Given the description of an element on the screen output the (x, y) to click on. 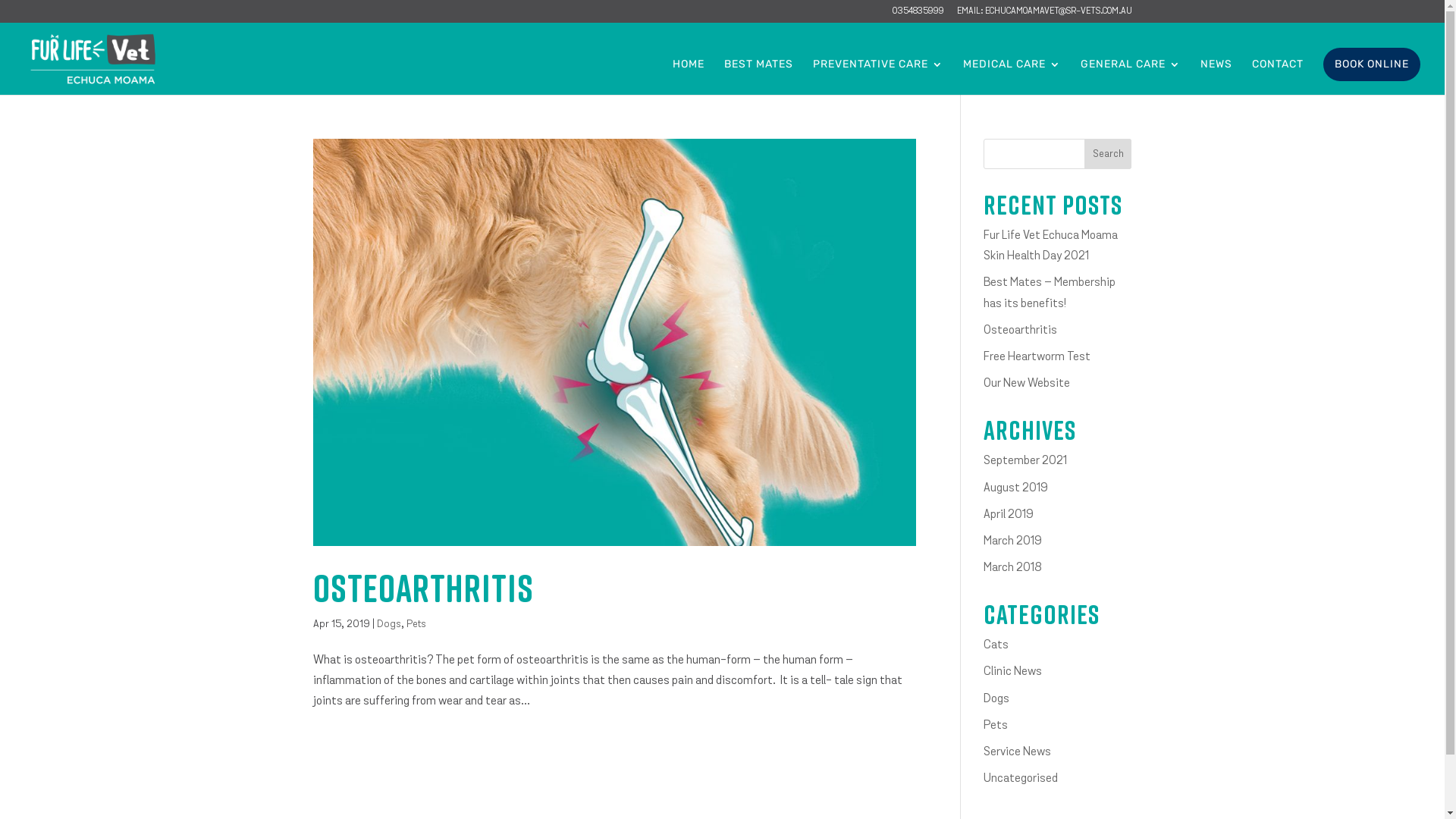
March 2018 Element type: text (1012, 567)
03 5483 5999 Element type: text (917, 14)
Service News Element type: text (1017, 752)
Our New Website Element type: text (1026, 383)
MEDICAL CARE Element type: text (1011, 76)
PREVENTATIVE CARE Element type: text (877, 76)
September 2021 Element type: text (1024, 461)
Fur Life Vet Echuca Moama Skin Health Day 2021 Element type: text (1050, 245)
EMAIL: ECHUCAMOAMAVET@SR-VETS.COM.AU Element type: text (1044, 14)
NEWS Element type: text (1216, 76)
Cats Element type: text (995, 645)
GENERAL CARE Element type: text (1130, 76)
Uncategorised Element type: text (1020, 778)
Osteoarthritis Element type: text (1020, 330)
Search Element type: text (1108, 153)
August 2019 Element type: text (1015, 488)
Free Heartworm Test Element type: text (1036, 357)
CONTACT Element type: text (1277, 76)
BOOK ONLINE Element type: text (1371, 64)
Dogs Element type: text (996, 699)
BEST MATES Element type: text (758, 76)
March 2019 Element type: text (1012, 541)
April 2019 Element type: text (1008, 514)
Dogs Element type: text (388, 624)
Pets Element type: text (995, 725)
HOME Element type: text (688, 76)
Osteoarthritis Element type: text (422, 587)
Pets Element type: text (416, 624)
Clinic News Element type: text (1012, 671)
